Given the description of an element on the screen output the (x, y) to click on. 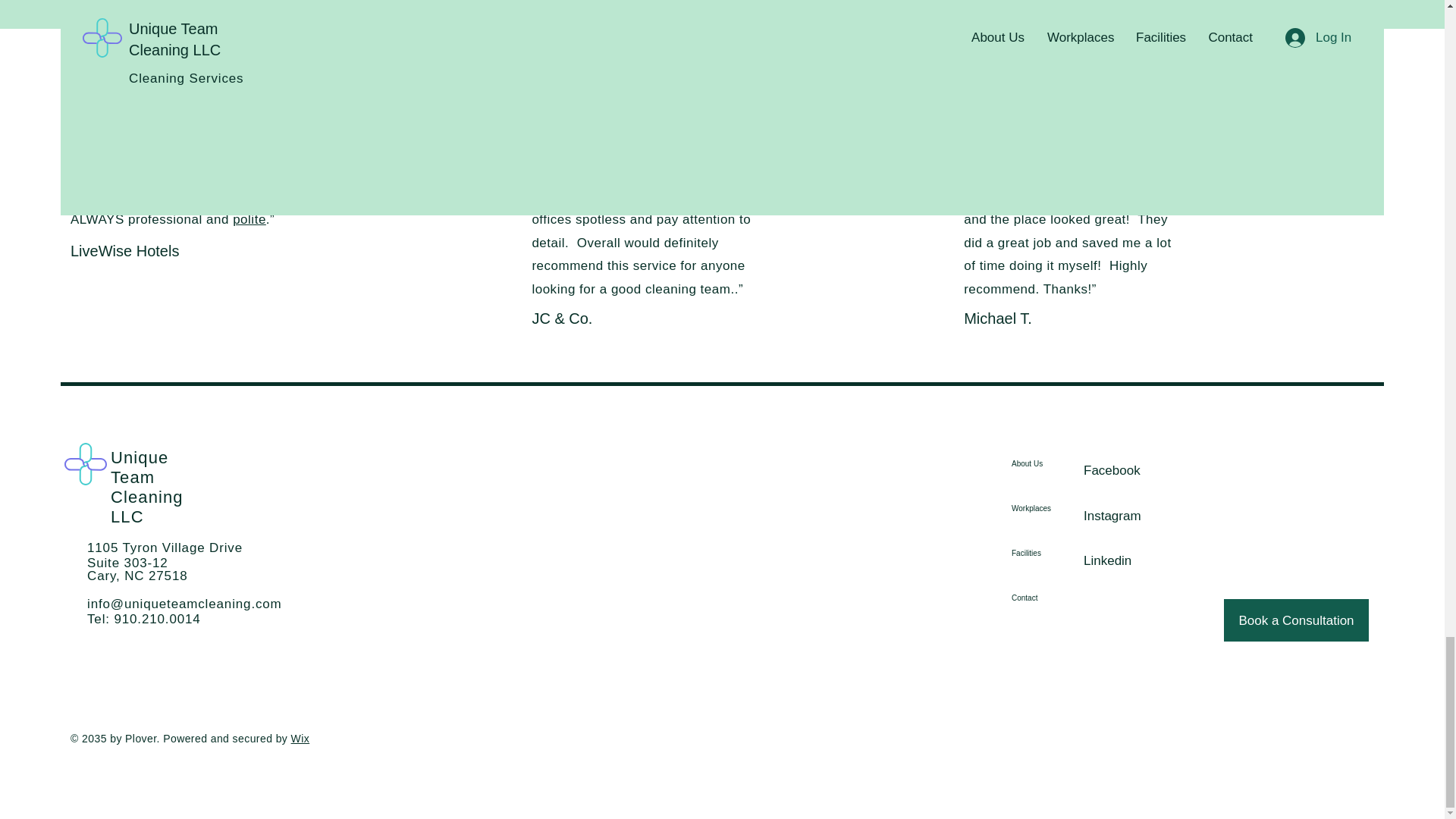
Wix (300, 738)
Facilities (1052, 552)
Facebook (1111, 470)
Instagram (1112, 515)
polite (249, 219)
Contact (1052, 597)
Linkedin (1107, 560)
1105 Tyron Village Drive (165, 547)
About Us (1052, 463)
Book a Consultation (1296, 619)
Unique Team  (139, 466)
Workplaces (1052, 508)
